Given the description of an element on the screen output the (x, y) to click on. 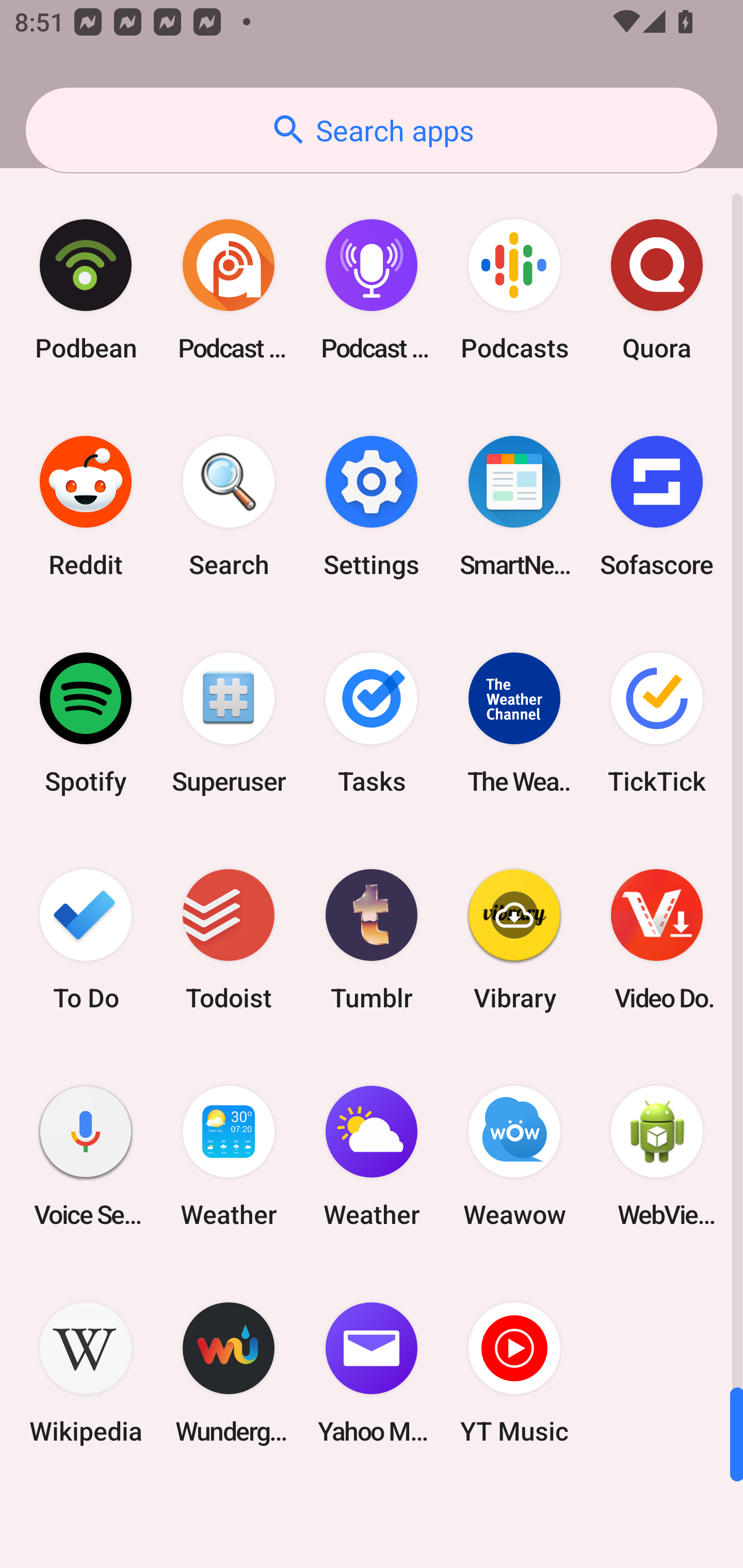
  Search apps (371, 130)
Podbean (85, 289)
Podcast Addict (228, 289)
Podcast Player (371, 289)
Podcasts (514, 289)
Quora (656, 289)
Reddit (85, 506)
Search (228, 506)
Settings (371, 506)
SmartNews (514, 506)
Sofascore (656, 506)
Spotify (85, 722)
Superuser (228, 722)
Tasks (371, 722)
The Weather Channel (514, 722)
TickTick (656, 722)
To Do (85, 939)
Todoist (228, 939)
Tumblr (371, 939)
Vibrary (514, 939)
Video Downloader & Ace Player (656, 939)
Voice Search (85, 1156)
Weather (228, 1156)
Weather (371, 1156)
Weawow (514, 1156)
WebView Browser Tester (656, 1156)
Wikipedia (85, 1373)
Wunderground (228, 1373)
Yahoo Mail (371, 1373)
YT Music (514, 1373)
